Given the description of an element on the screen output the (x, y) to click on. 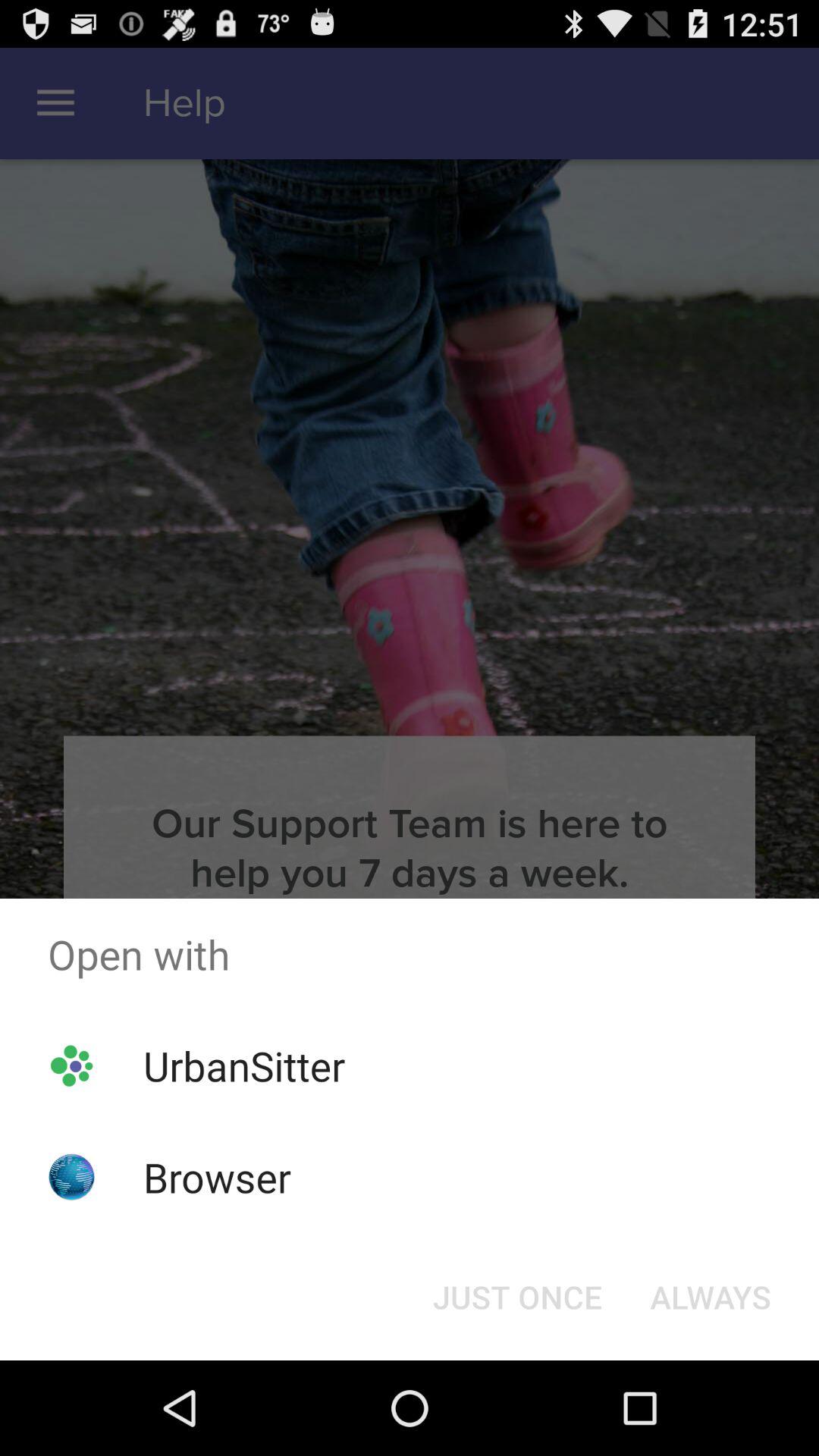
tap button to the right of the just once (710, 1296)
